Given the description of an element on the screen output the (x, y) to click on. 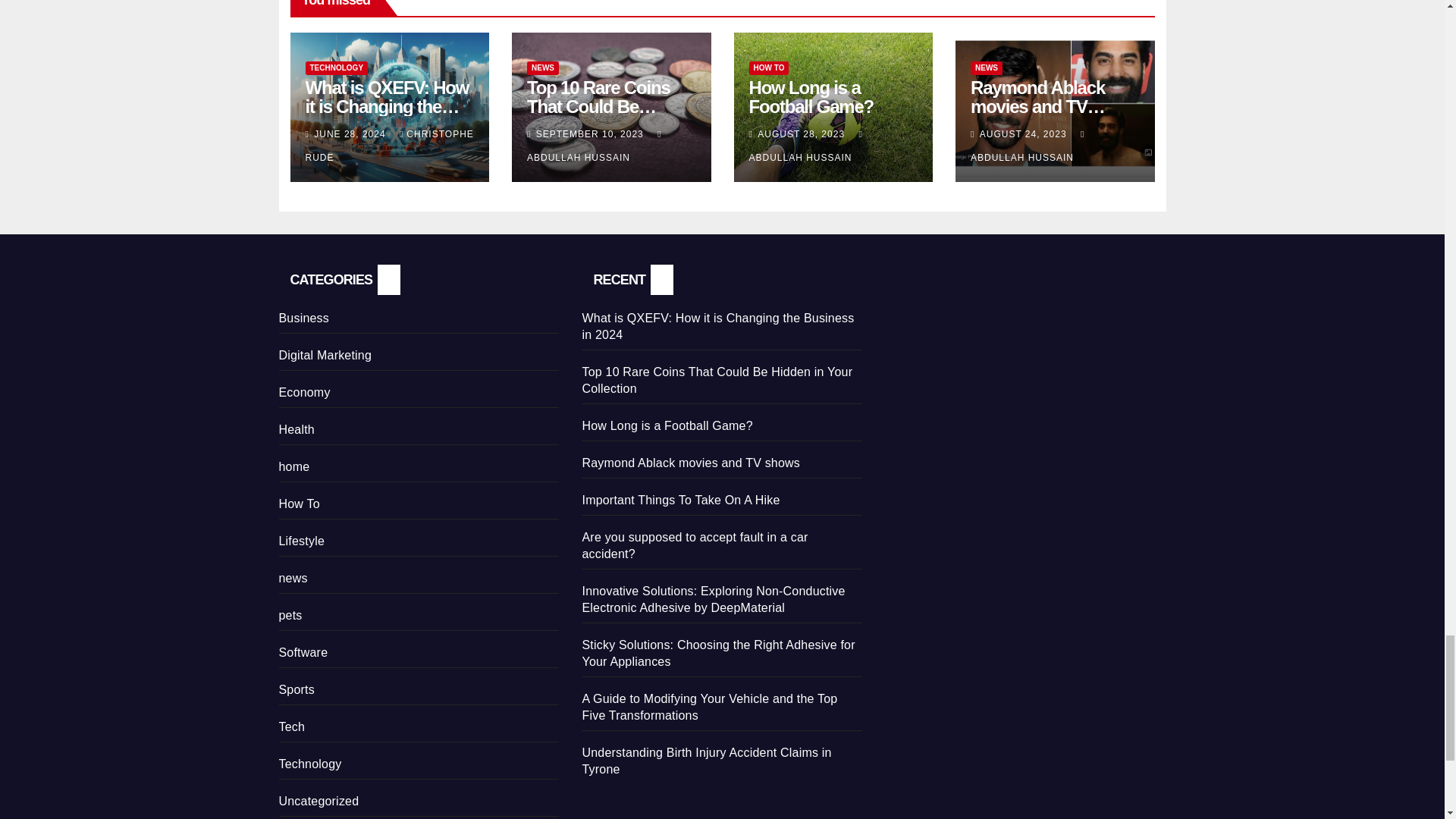
Permalink to: How Long is a Football Game? (812, 96)
Permalink to: Raymond Ablack movies and TV shows (1038, 105)
